Given the description of an element on the screen output the (x, y) to click on. 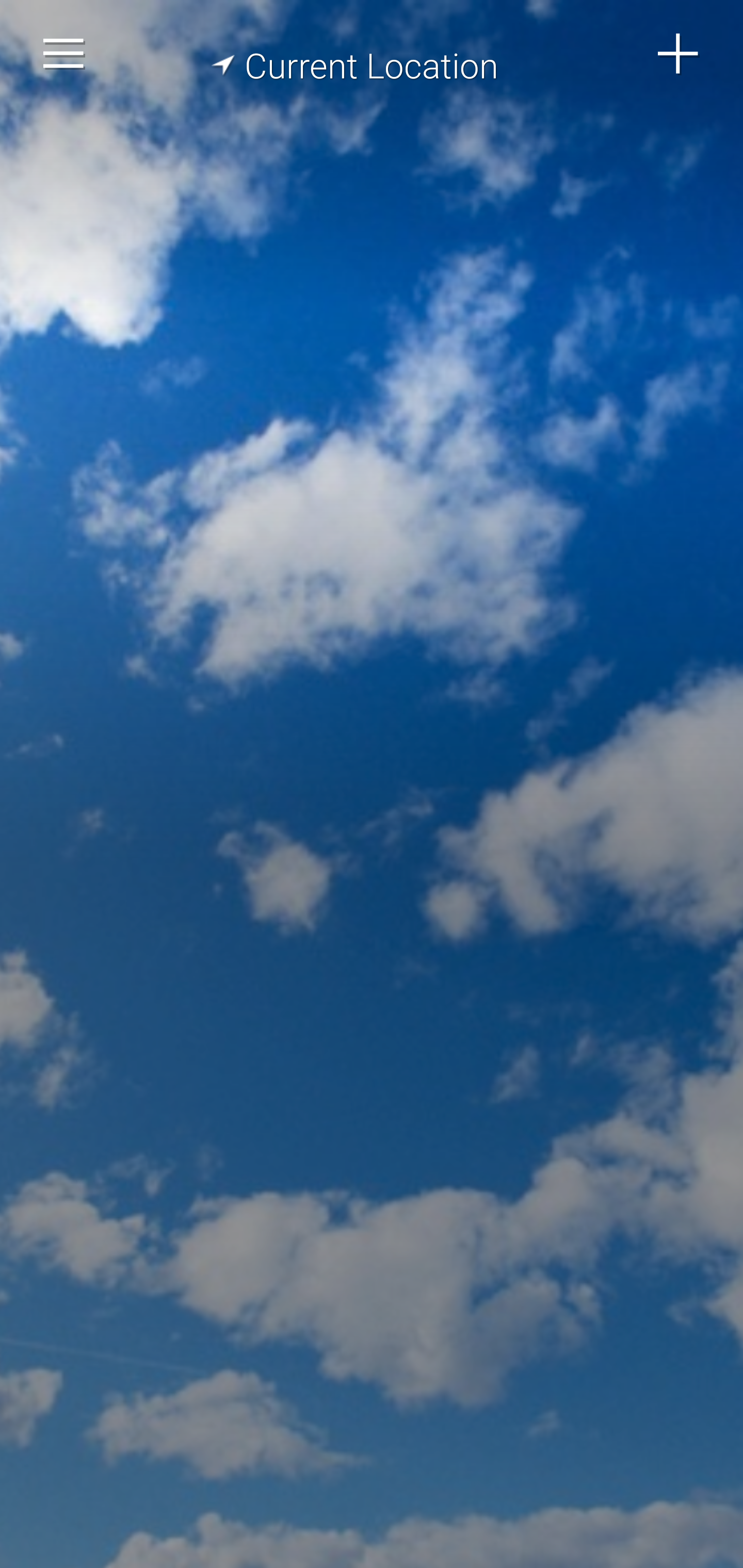
Sidebar (64, 54)
Add City (678, 53)
